Given the description of an element on the screen output the (x, y) to click on. 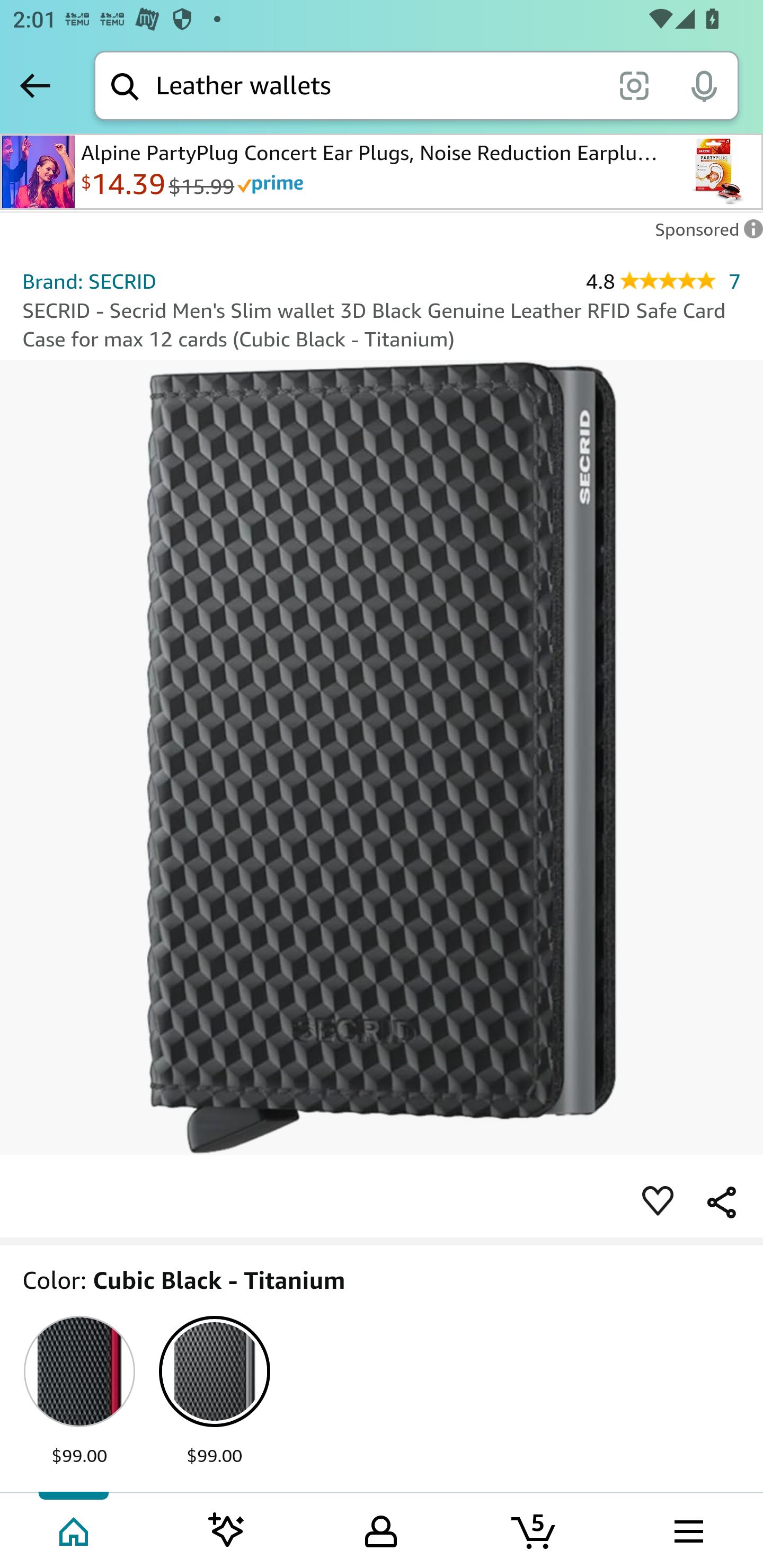
Back (35, 85)
scan it (633, 85)
Leave feedback on Sponsored ad Sponsored  (703, 234)
4.8 7 4.8  7 (662, 280)
Brand: SECRID (89, 281)
Heart to save an item to your default list (657, 1201)
Home Tab 1 of 5 (75, 1529)
Inspire feed Tab 2 of 5 (227, 1529)
Your Amazon.com Tab 3 of 5 (380, 1529)
Cart 5 items Tab 4 of 5 5 (534, 1529)
Browse menu Tab 5 of 5 (687, 1529)
